Given the description of an element on the screen output the (x, y) to click on. 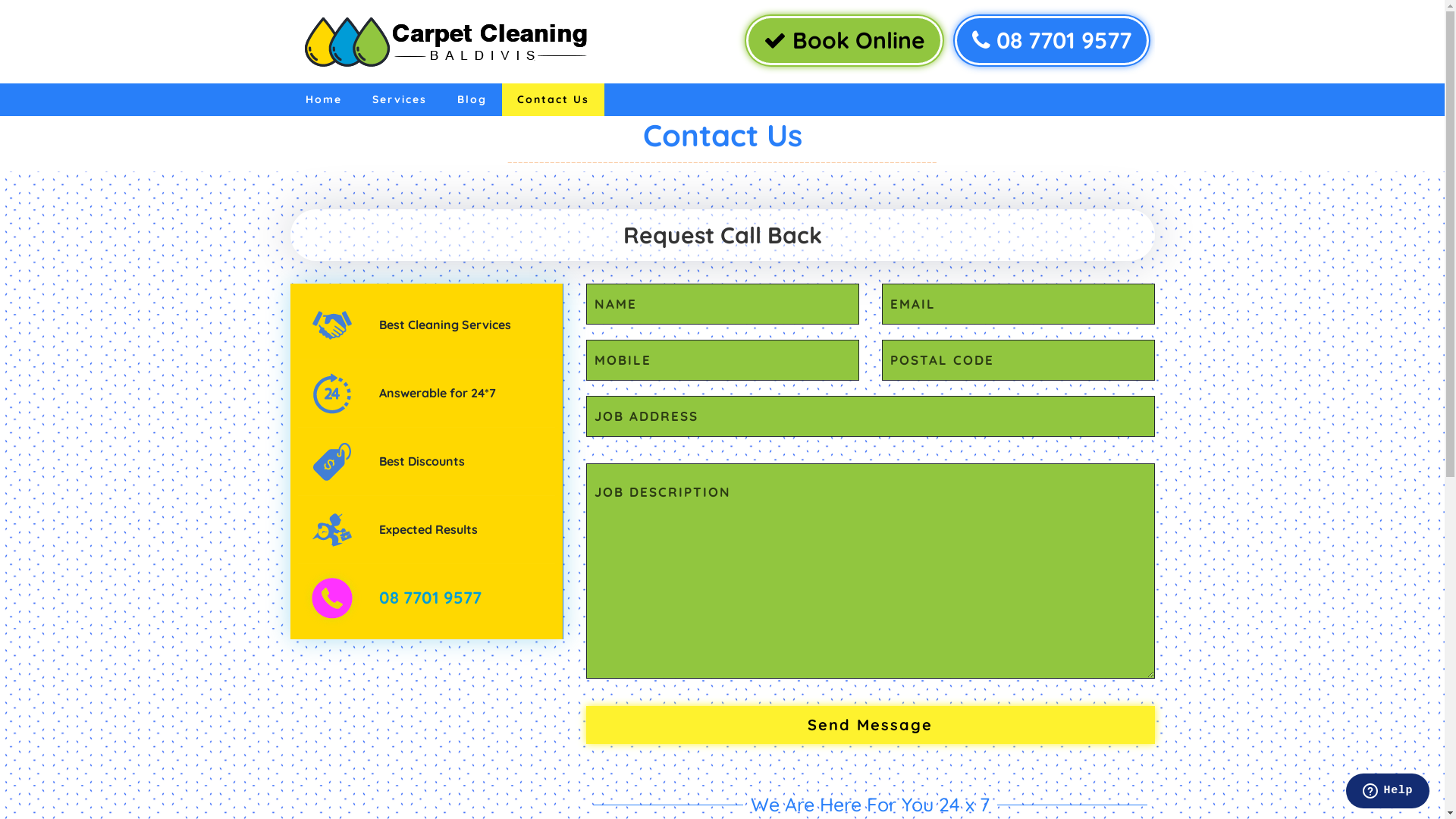
Contact Us Element type: text (553, 99)
Opens a widget where you can chat to one of our agents Element type: hover (1387, 792)
08 7701 9577 Element type: text (430, 597)
Home Element type: text (322, 99)
Blog Element type: text (471, 99)
Services Element type: text (398, 99)
Send Message Element type: text (869, 724)
08 7701 9577 Element type: text (1050, 40)
Book Online Element type: text (844, 40)
